Given the description of an element on the screen output the (x, y) to click on. 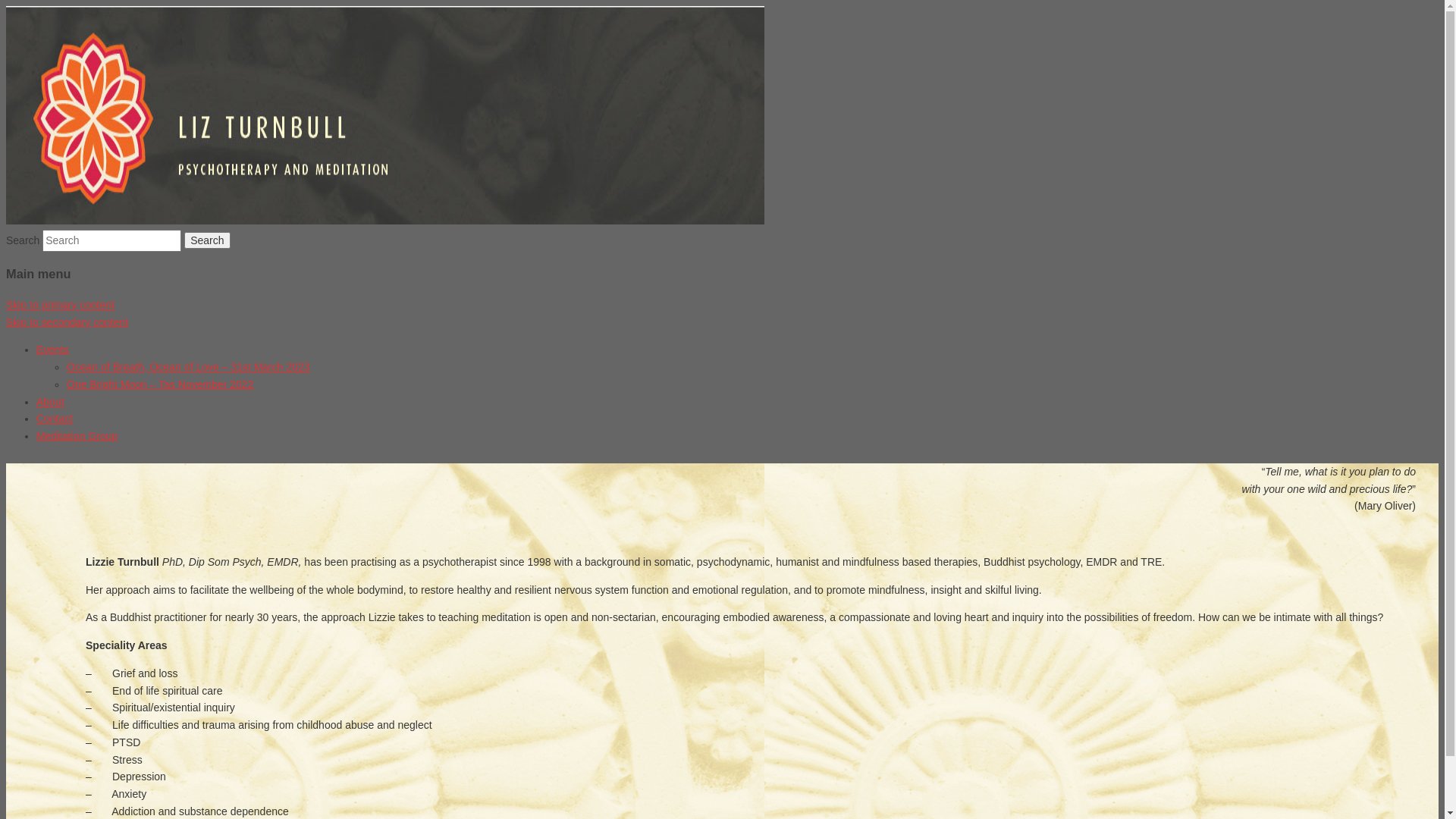
Events Element type: text (52, 349)
Search Element type: text (206, 240)
Skip to secondary content Element type: text (67, 322)
Meditation Group Element type: text (76, 435)
Skip to primary content Element type: text (60, 304)
About Element type: text (50, 401)
Contact Element type: text (54, 418)
